Given the description of an element on the screen output the (x, y) to click on. 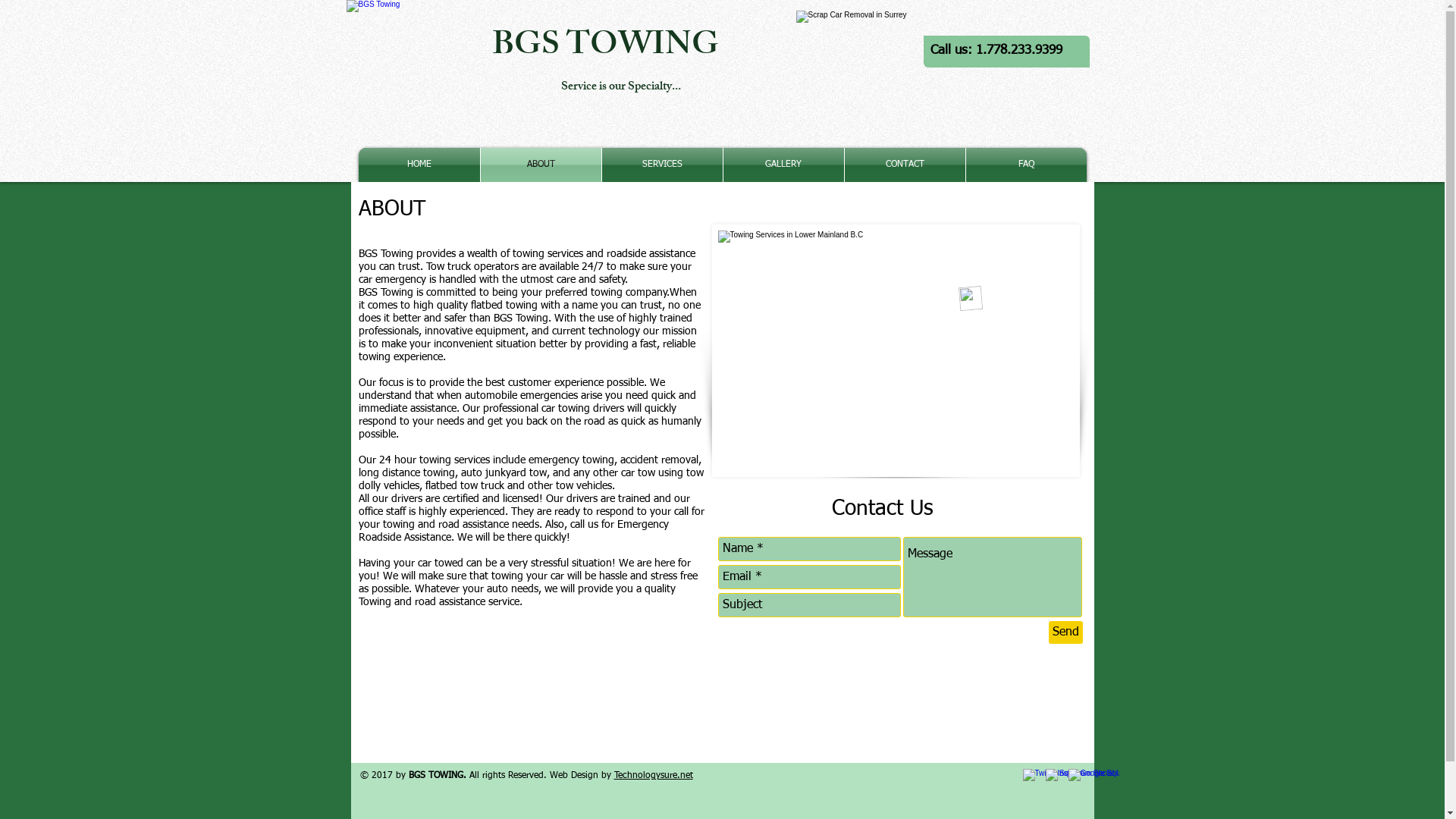
Technologysure.net Element type: text (653, 775)
Send Element type: text (1065, 632)
BGS TOWING Element type: text (604, 47)
FAQ Element type: text (1026, 164)
GALLERY Element type: text (783, 164)
CONTACT Element type: text (904, 164)
SERVICES Element type: text (662, 164)
ABOUT Element type: text (540, 164)
Service is our Specialty... Element type: text (620, 87)
HOME Element type: text (418, 164)
